Given the description of an element on the screen output the (x, y) to click on. 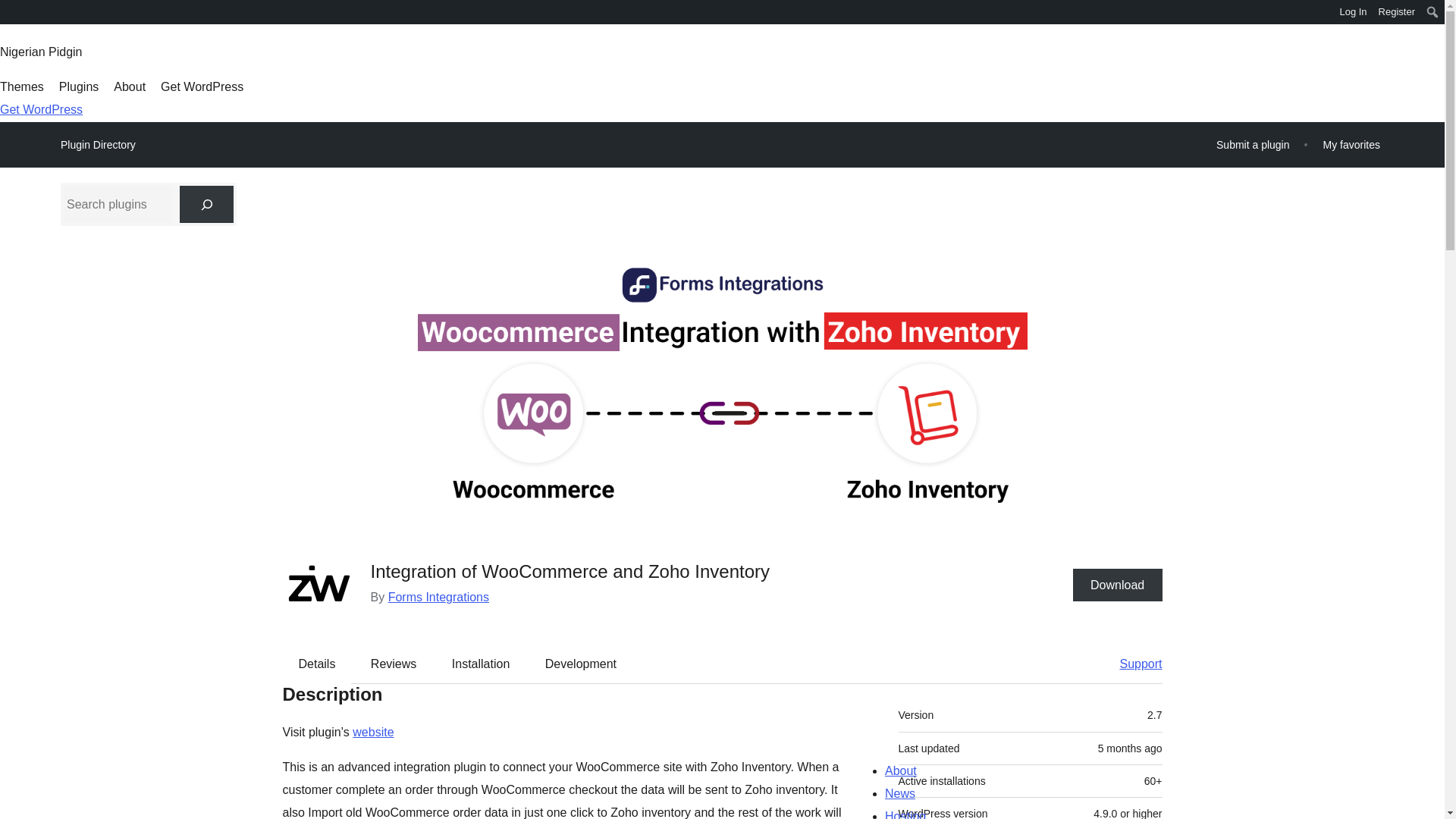
Development (580, 664)
WordPress.org (10, 16)
Log In (1353, 12)
Themes (21, 87)
Plugin Directory (97, 144)
Plugins (79, 87)
About (129, 87)
Submit a plugin (1253, 144)
Reviews (392, 664)
My favorites (1351, 144)
WordPress.org (10, 10)
website (372, 731)
Register (1397, 12)
Download (1117, 584)
Support (1132, 664)
